Given the description of an element on the screen output the (x, y) to click on. 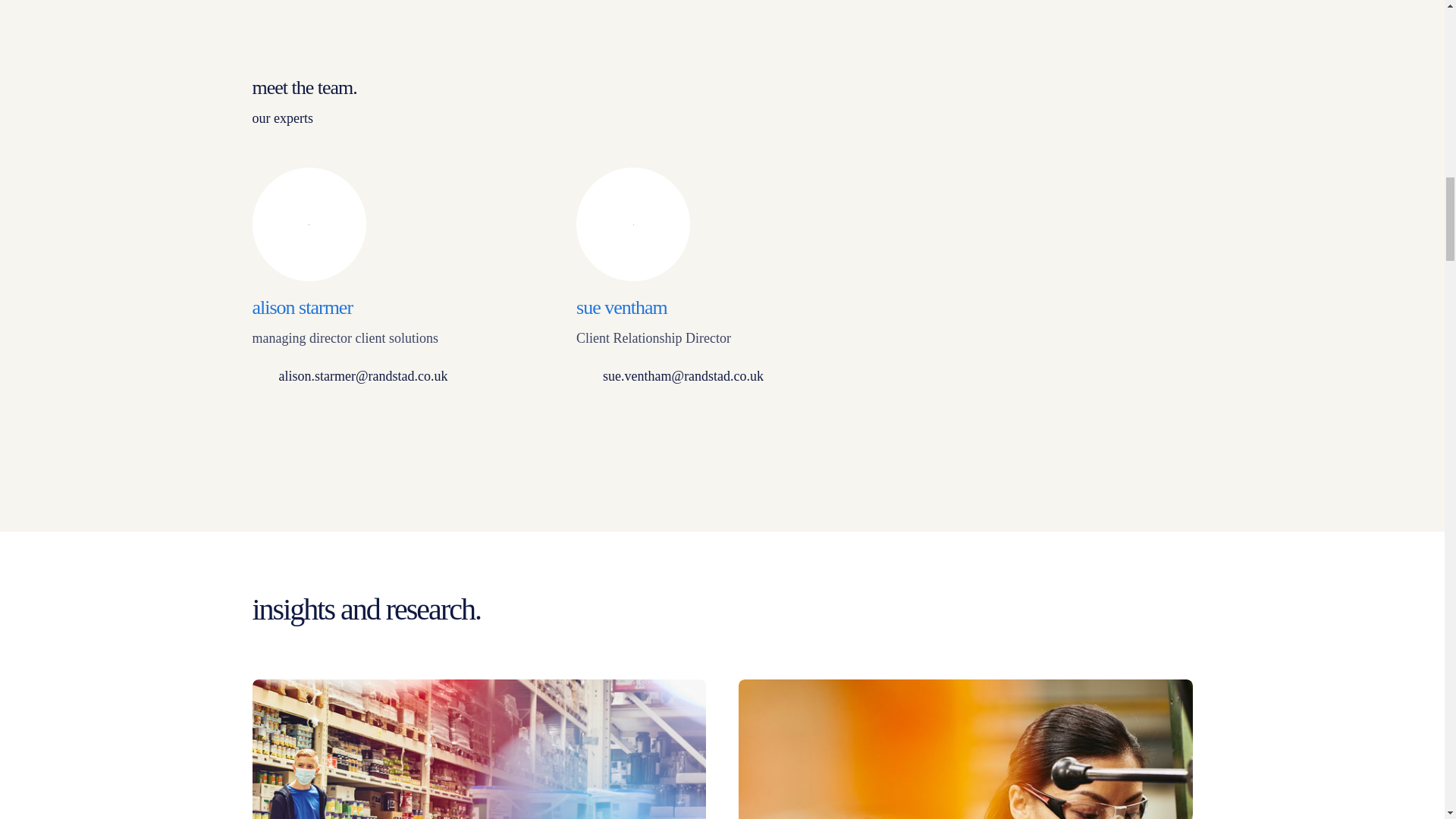
Alison Starmer linkedin link (263, 421)
Sue Ventham linkedin link (587, 421)
gen z manufacturing recruitment (478, 749)
woman in manufacturing industry (965, 749)
